Given the description of an element on the screen output the (x, y) to click on. 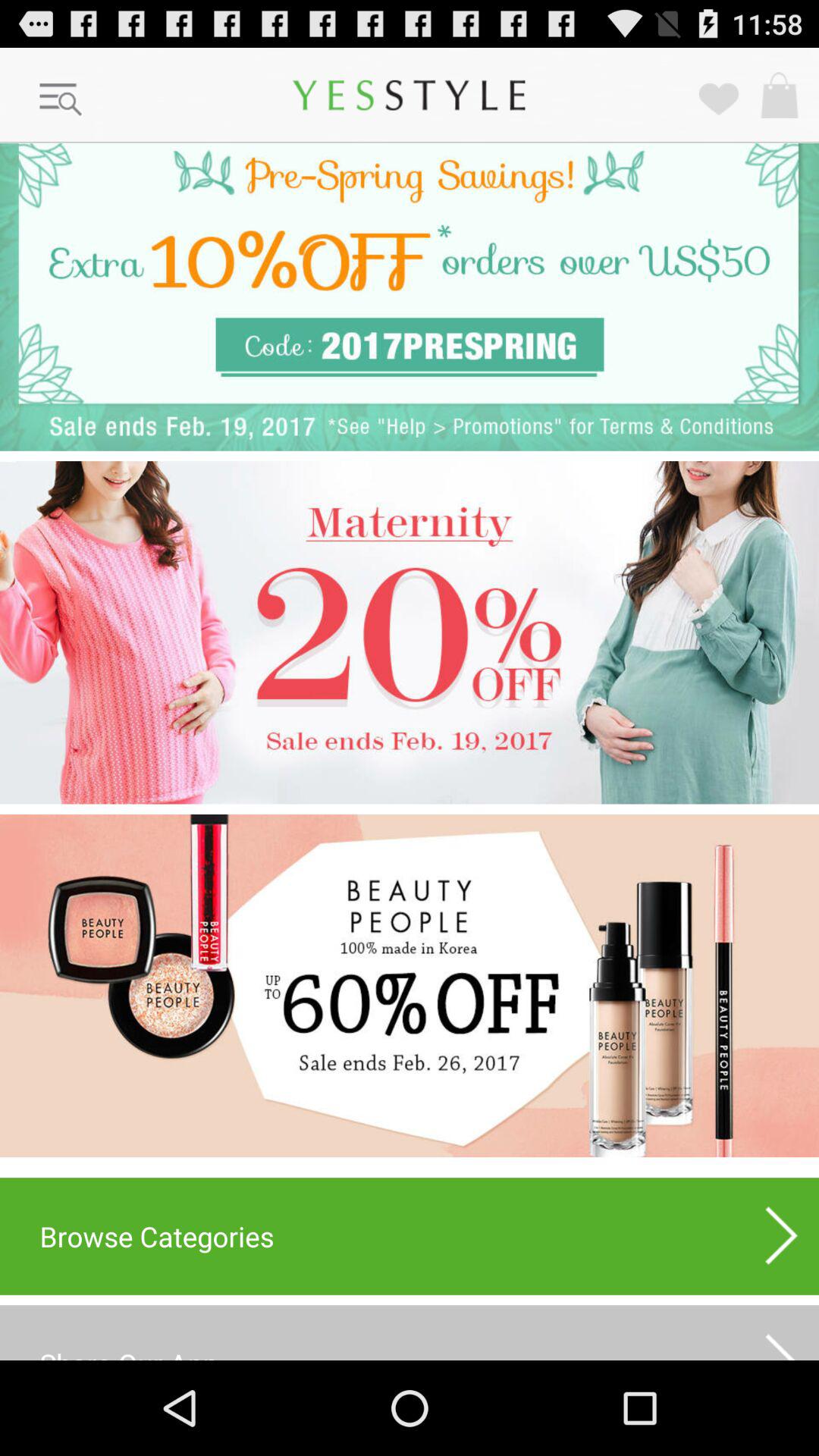
go to menu (61, 100)
